Given the description of an element on the screen output the (x, y) to click on. 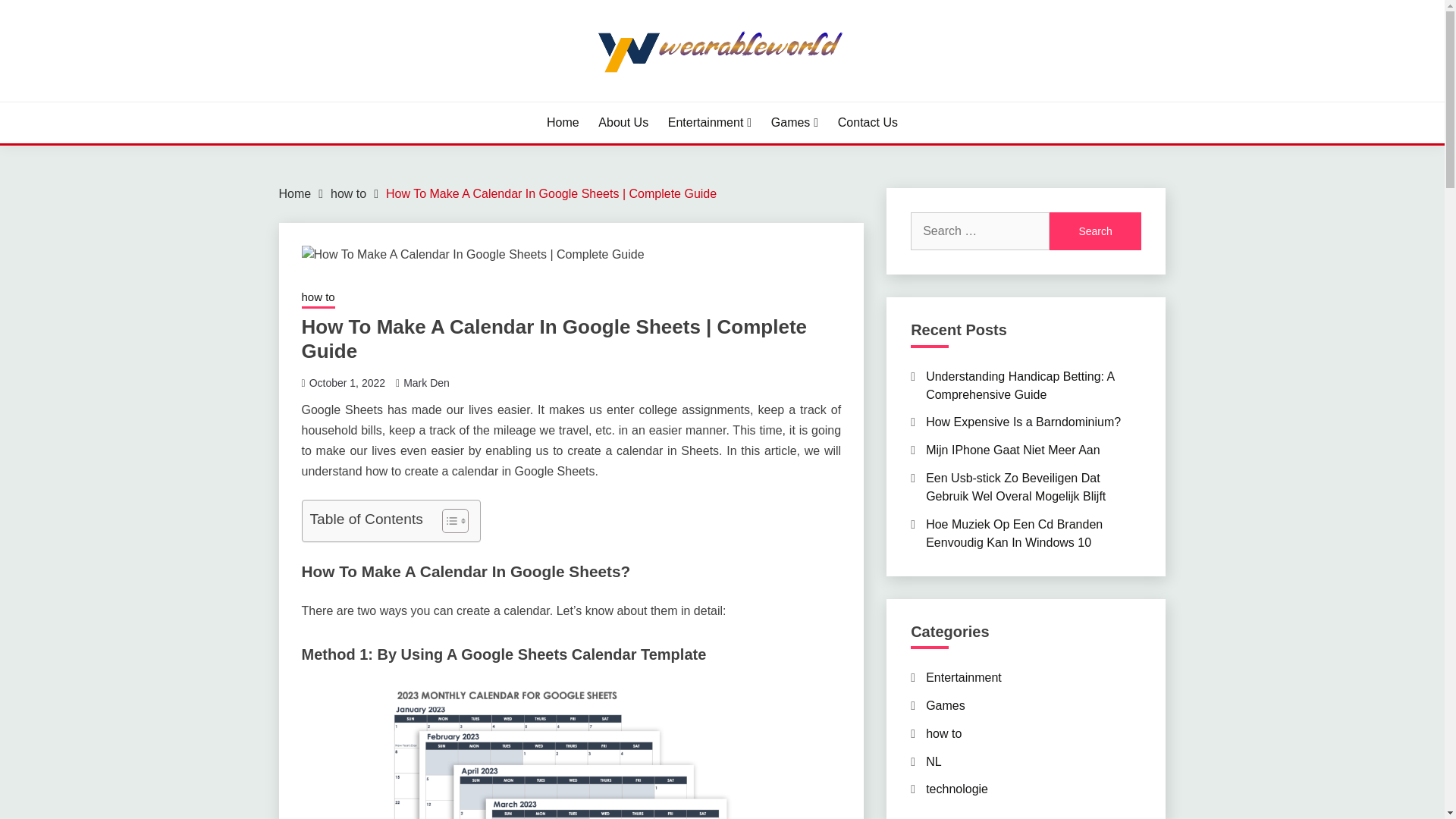
Contact Us (868, 122)
Home (563, 122)
Entertainment (709, 122)
Games (794, 122)
WEARABLE WORLD (416, 99)
how to (348, 193)
Home (295, 193)
Mark Den (426, 381)
About Us (622, 122)
how to (317, 298)
Search (1095, 231)
October 1, 2022 (346, 381)
Search (1095, 231)
